Given the description of an element on the screen output the (x, y) to click on. 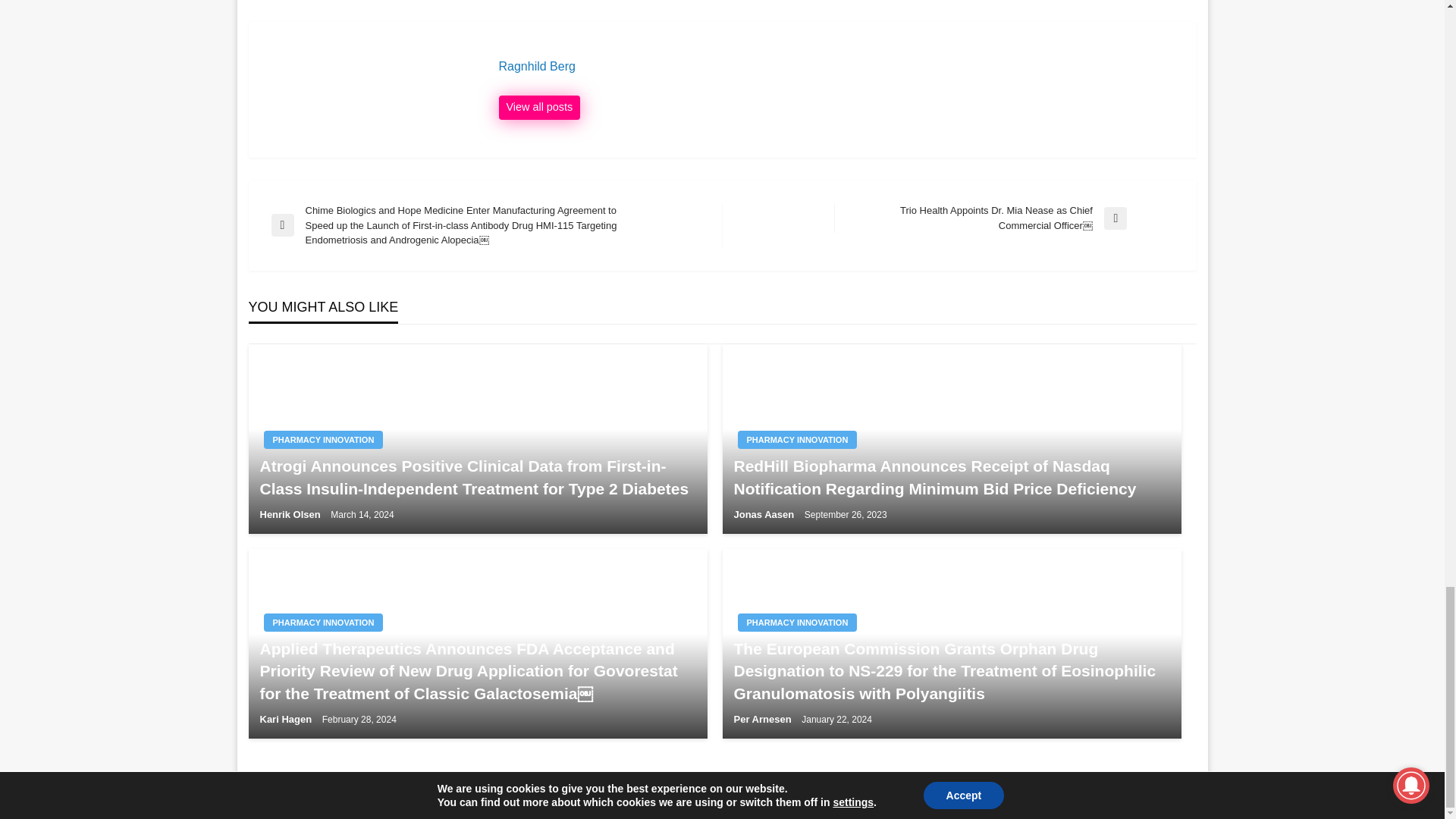
Ragnhild Berg (539, 107)
Ragnhild Berg (839, 66)
